Given the description of an element on the screen output the (x, y) to click on. 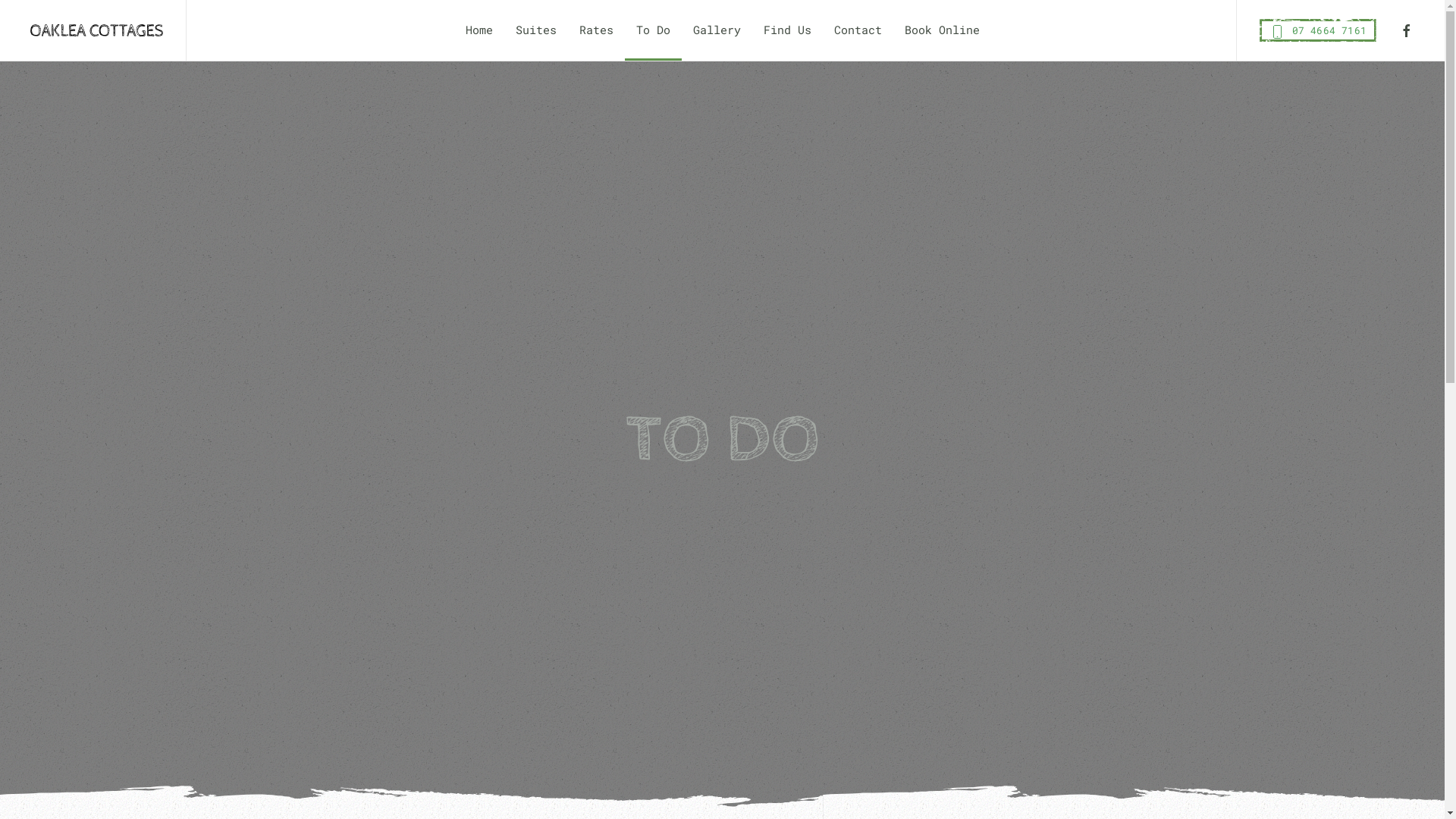
Contact Element type: text (857, 30)
Gallery Element type: text (715, 30)
Find Us Element type: text (787, 30)
Suites Element type: text (535, 30)
Rates Element type: text (595, 30)
Book Online Element type: text (942, 30)
To Do Element type: text (652, 30)
07 4664 7161 Element type: text (1317, 29)
Home Element type: text (478, 30)
